Given the description of an element on the screen output the (x, y) to click on. 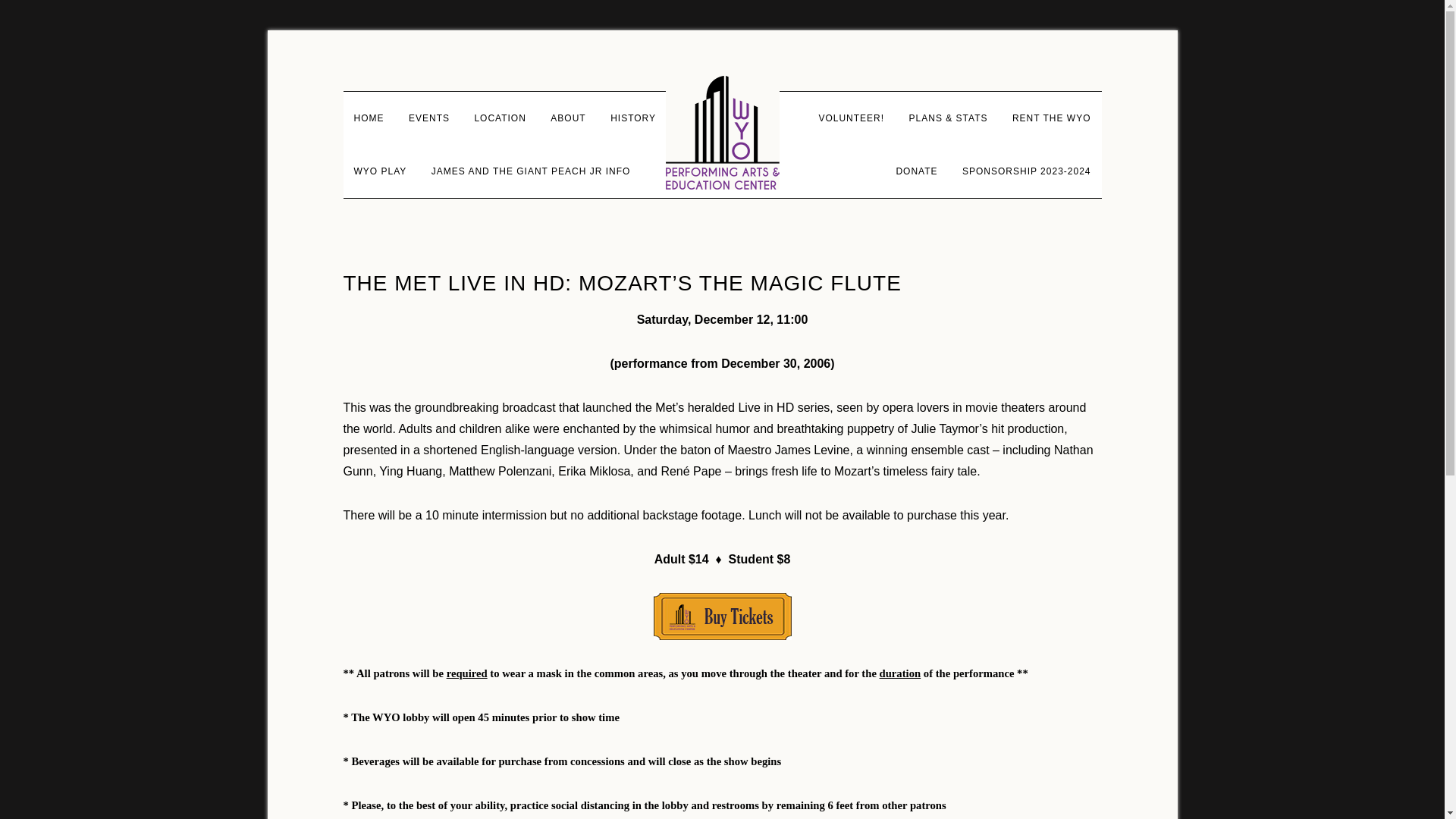
WYO THEATER (721, 132)
LOCATION (499, 117)
HISTORY (632, 117)
WYO PLAY (379, 171)
HOME (368, 117)
VOLUNTEER! (851, 117)
DONATE (916, 171)
JAMES AND THE GIANT PEACH JR INFO (531, 171)
SPONSORSHIP 2023-2024 (1027, 171)
ABOUT (567, 117)
EVENTS (428, 117)
RENT THE WYO (1051, 117)
